Given the description of an element on the screen output the (x, y) to click on. 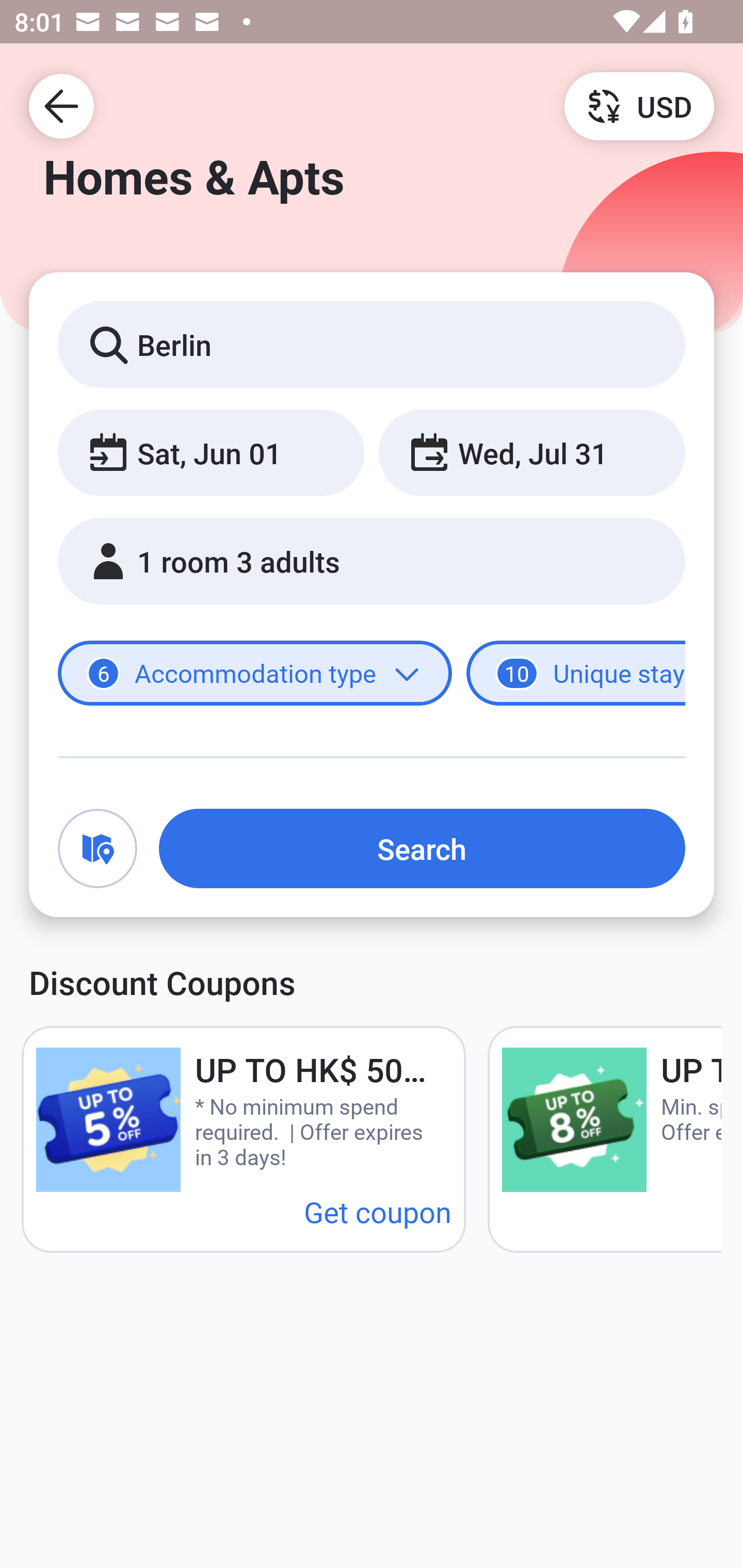
USD (639, 105)
Berlin (371, 344)
Sat, Jun 01 (210, 452)
Wed, Jul 31 (531, 452)
1 room 3 adults (371, 561)
6 Accommodation type (254, 673)
10 Unique stays (575, 673)
Search (422, 848)
Get coupon (377, 1211)
